Given the description of an element on the screen output the (x, y) to click on. 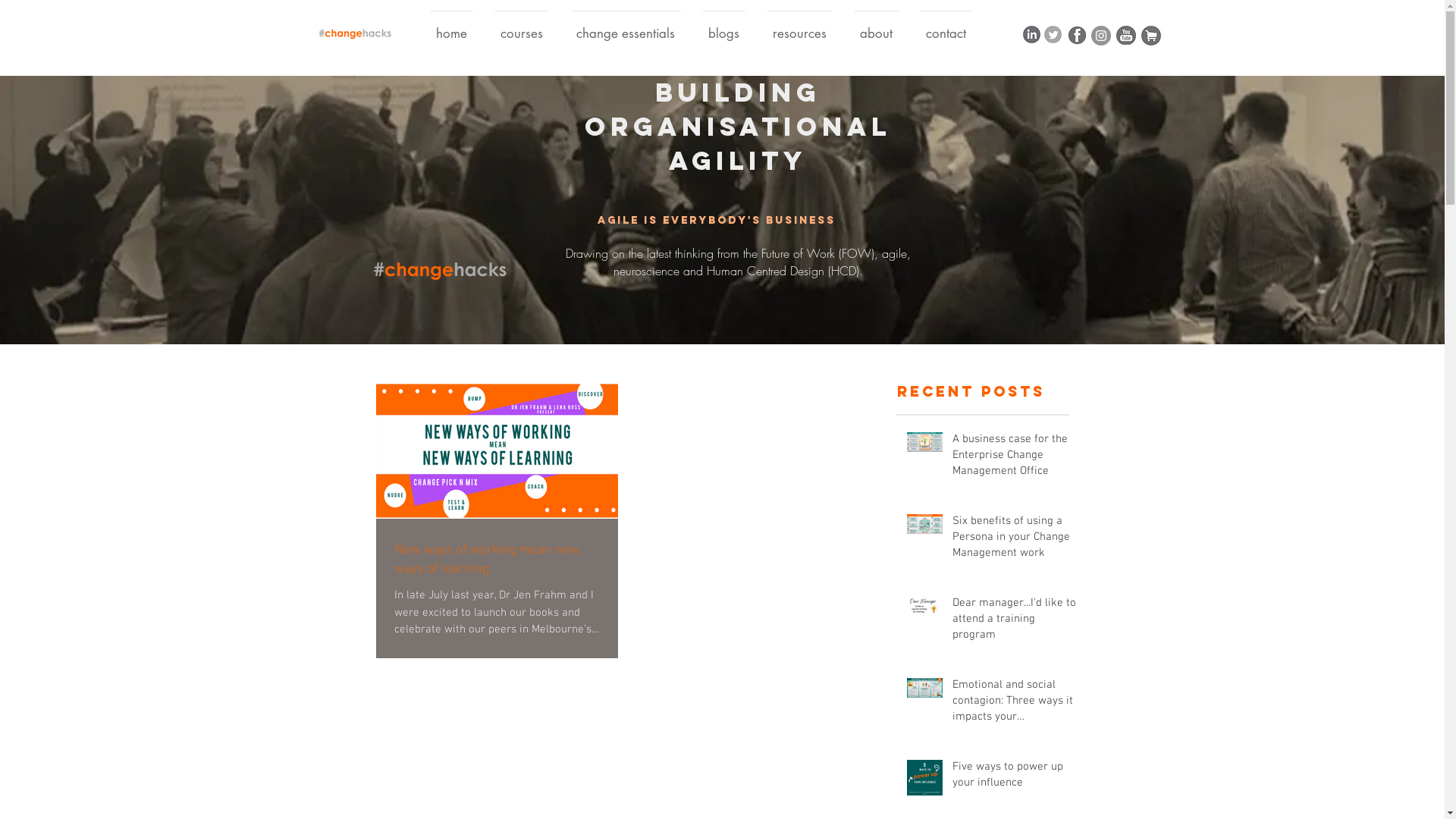
home Element type: text (451, 26)
A business case for the Enterprise Change Management Office Element type: text (1016, 458)
change essentials Element type: text (625, 26)
contact Element type: text (945, 26)
resources Element type: text (799, 26)
changehacks_logo_Vector improved.png Element type: hover (348, 30)
blogs Element type: text (723, 26)
about Element type: text (876, 26)
courses Element type: text (521, 26)
New ways of working mean new ways of learning Element type: text (496, 559)
changehacks_logo_Vector improved.png Element type: hover (427, 264)
Dear manager...I'd like to attend a training program Element type: text (1016, 622)
Five ways to power up your influence Element type: text (1016, 778)
